Given the description of an element on the screen output the (x, y) to click on. 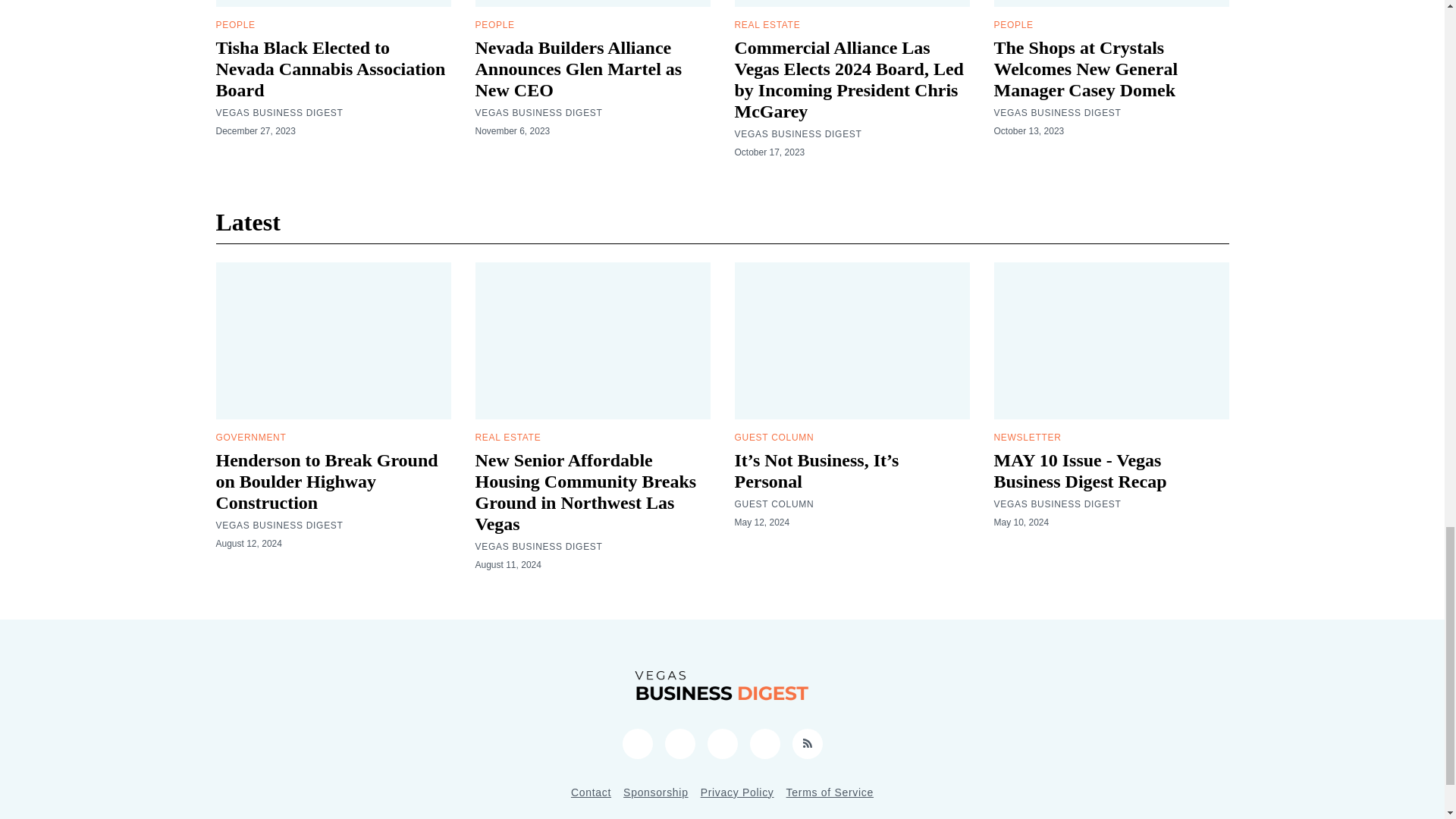
Tisha Black Elected to Nevada Cannabis Association Board (330, 68)
Nevada Builders Alliance Announces Glen Martel as New CEO (577, 68)
REAL ESTATE (766, 24)
VEGAS BUSINESS DIGEST (538, 112)
PEOPLE (493, 24)
PEOPLE (234, 24)
VEGAS BUSINESS DIGEST (278, 112)
